Given the description of an element on the screen output the (x, y) to click on. 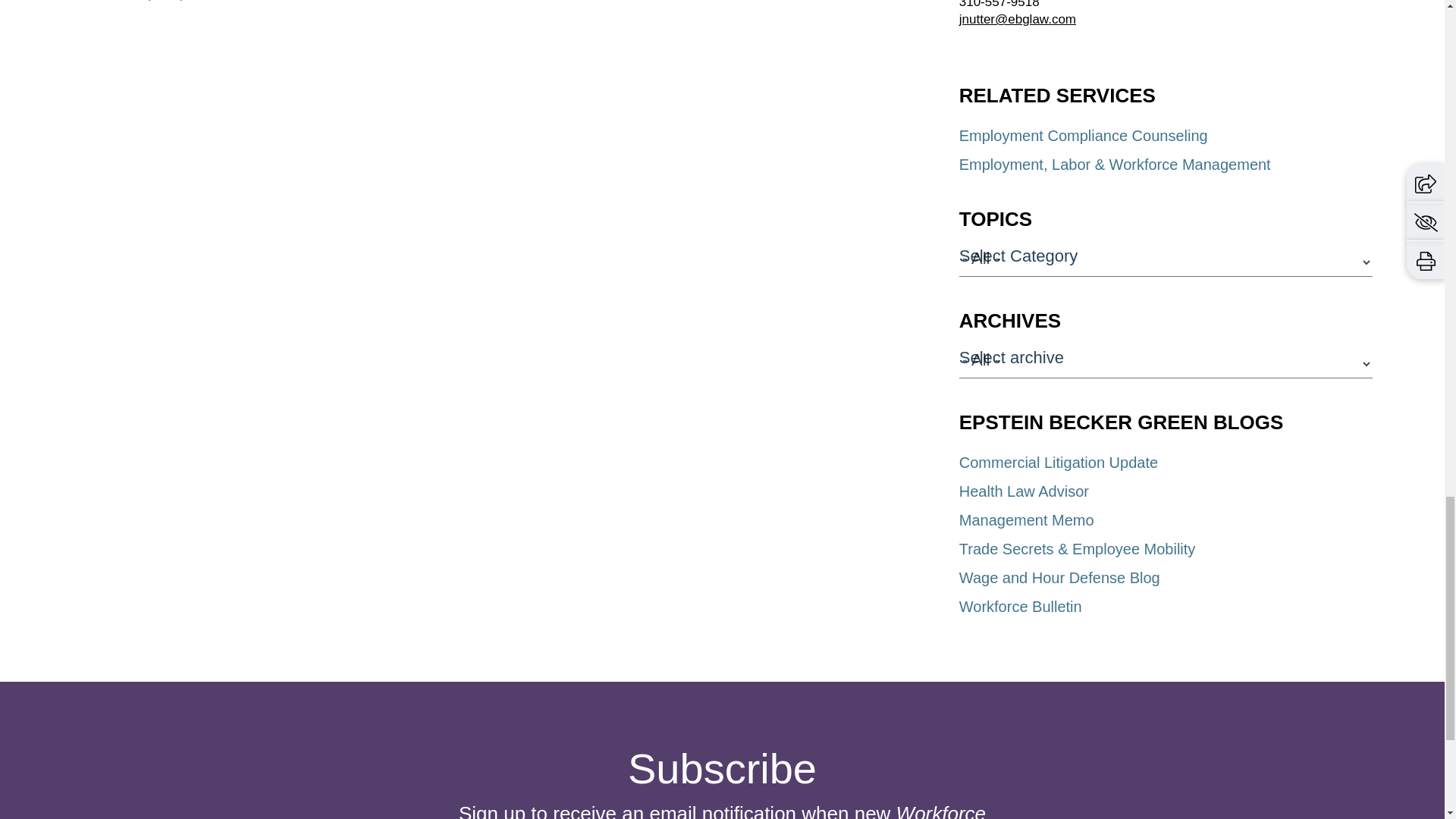
OSHA (376, 0)
